Given the description of an element on the screen output the (x, y) to click on. 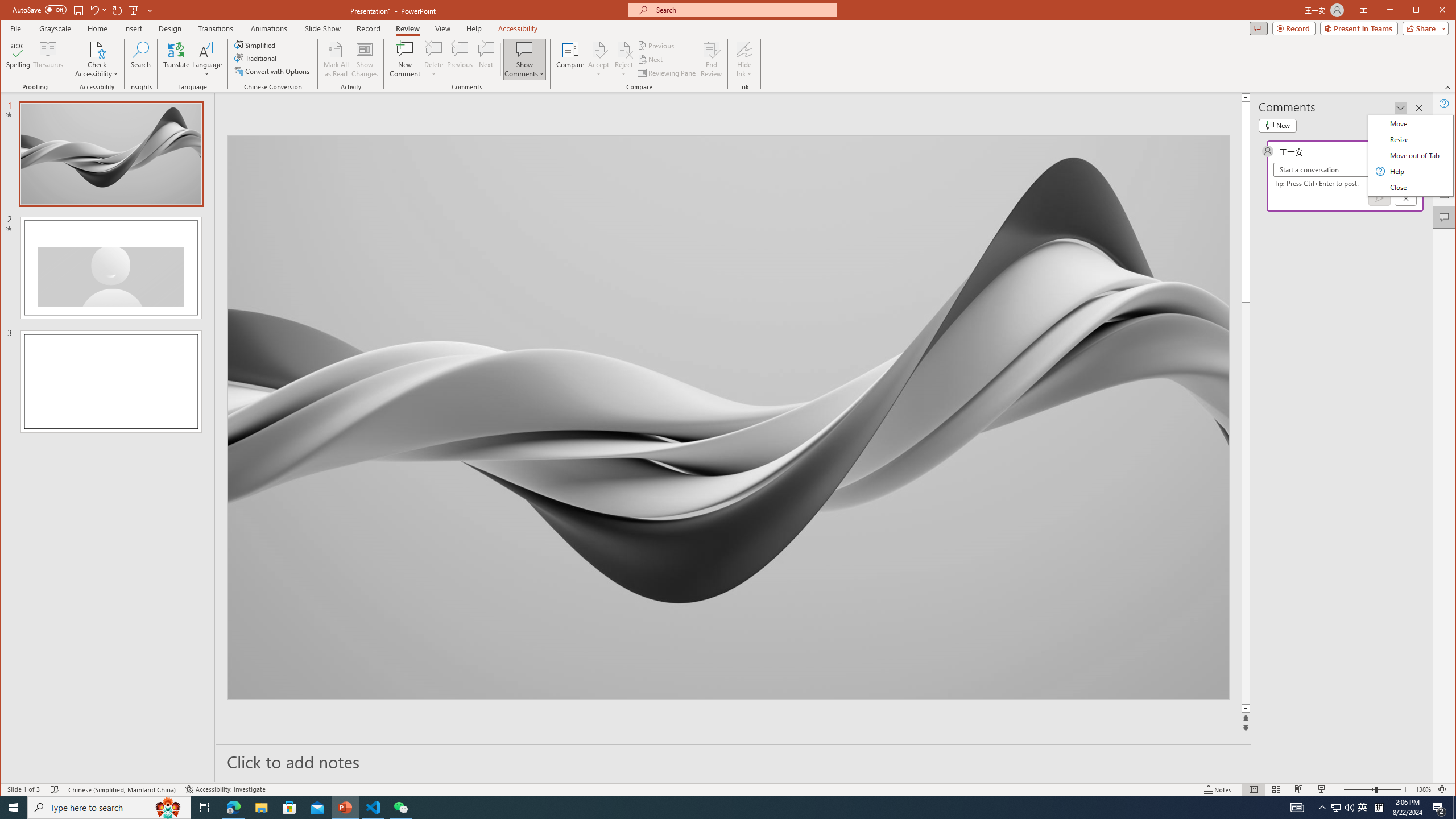
System (10, 10)
Line up (1427, 96)
Show Changes (365, 59)
New Comment (405, 59)
Review (407, 28)
Reading View (1298, 789)
New comment (1277, 125)
Check Accessibility (96, 59)
Undo (98, 9)
WeChat - 1 running window (400, 807)
Close pane (1418, 107)
Simplified (255, 44)
Spelling... (18, 59)
Check Accessibility (96, 48)
